Given the description of an element on the screen output the (x, y) to click on. 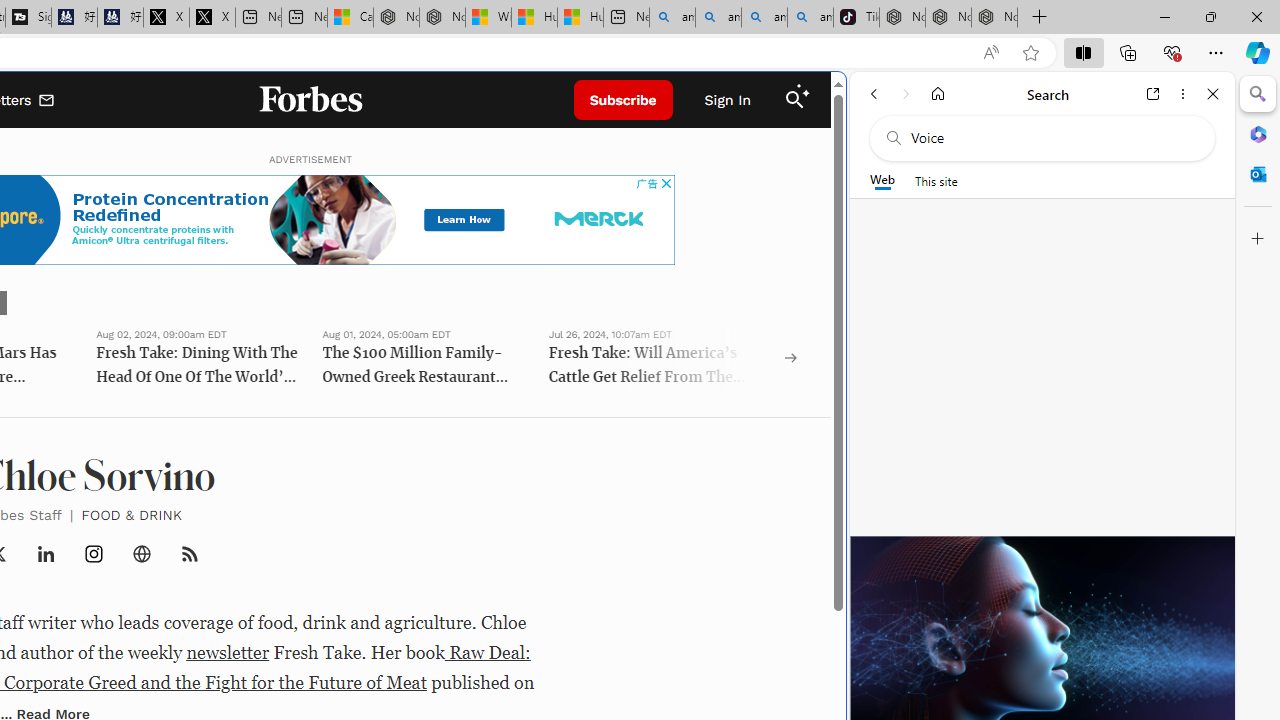
Huge shark washes ashore at New York City beach | Watch (580, 17)
Class: j2XH_ (189, 553)
amazon - Search Images (810, 17)
